Given the description of an element on the screen output the (x, y) to click on. 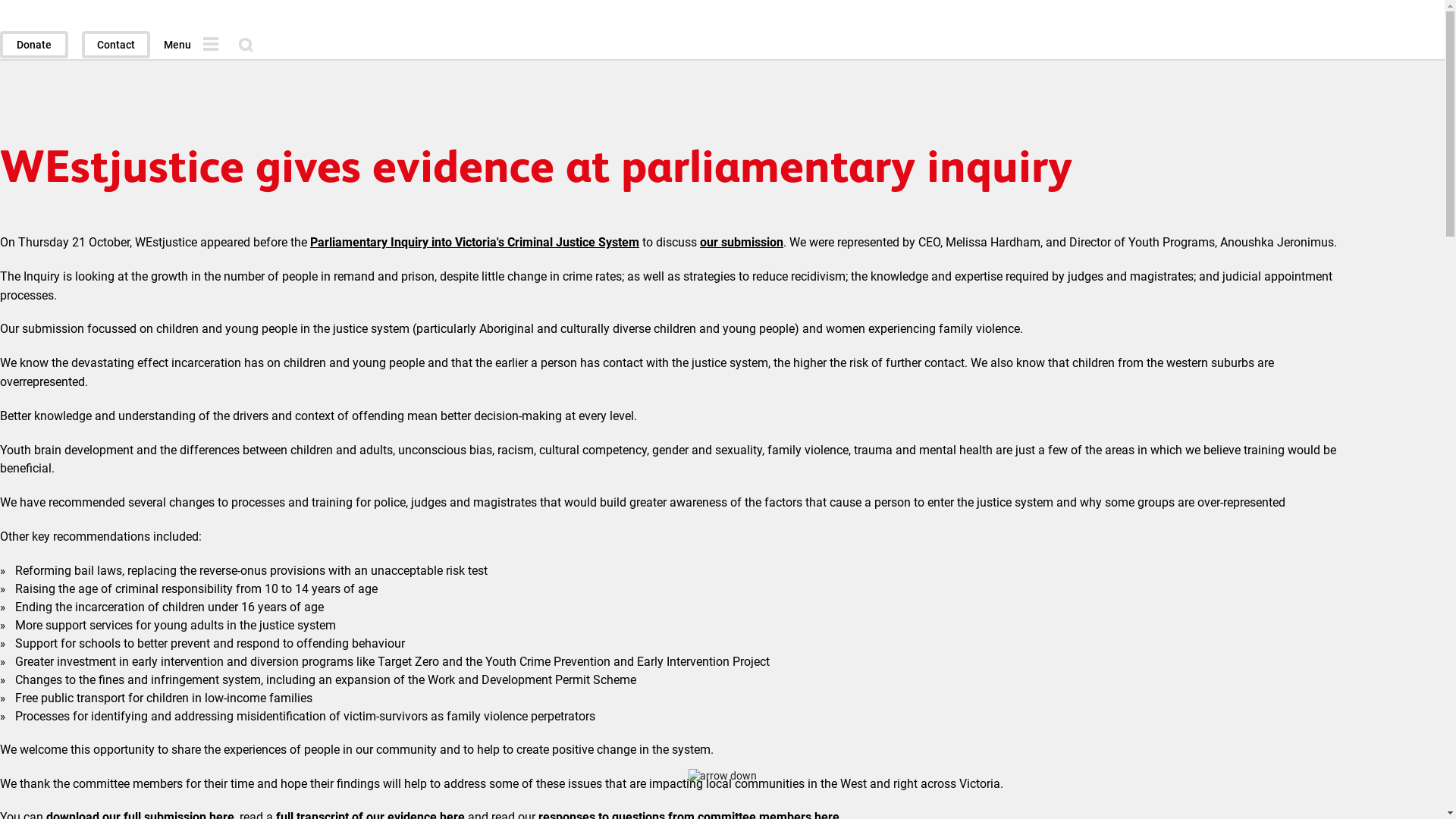
our submission Element type: text (741, 242)
Contact Element type: text (115, 44)
search Element type: text (245, 44)
Donate Element type: text (34, 44)
